Given the description of an element on the screen output the (x, y) to click on. 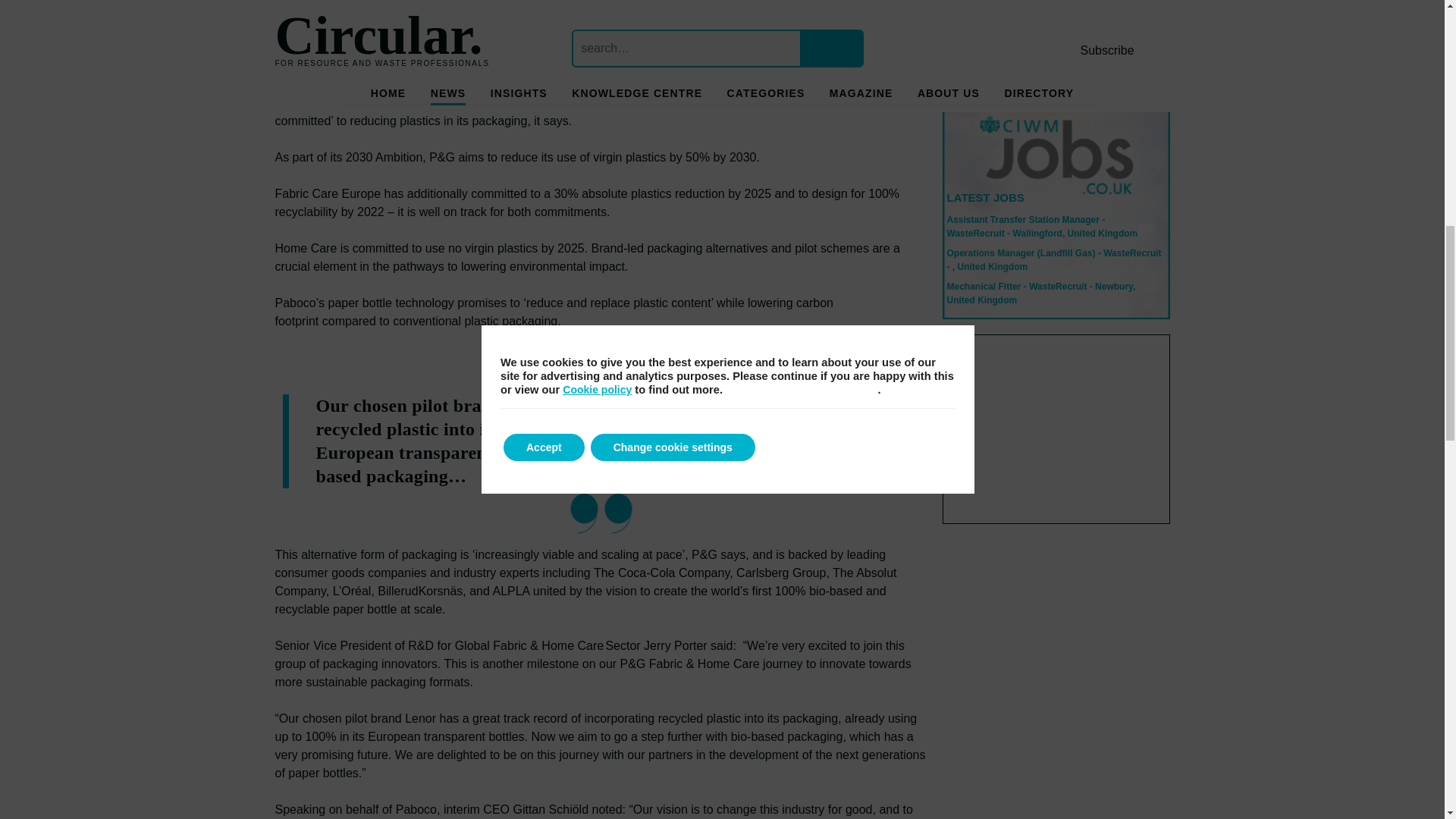
3rd party ad content (1055, 31)
3rd party ad content (1055, 429)
